Given the description of an element on the screen output the (x, y) to click on. 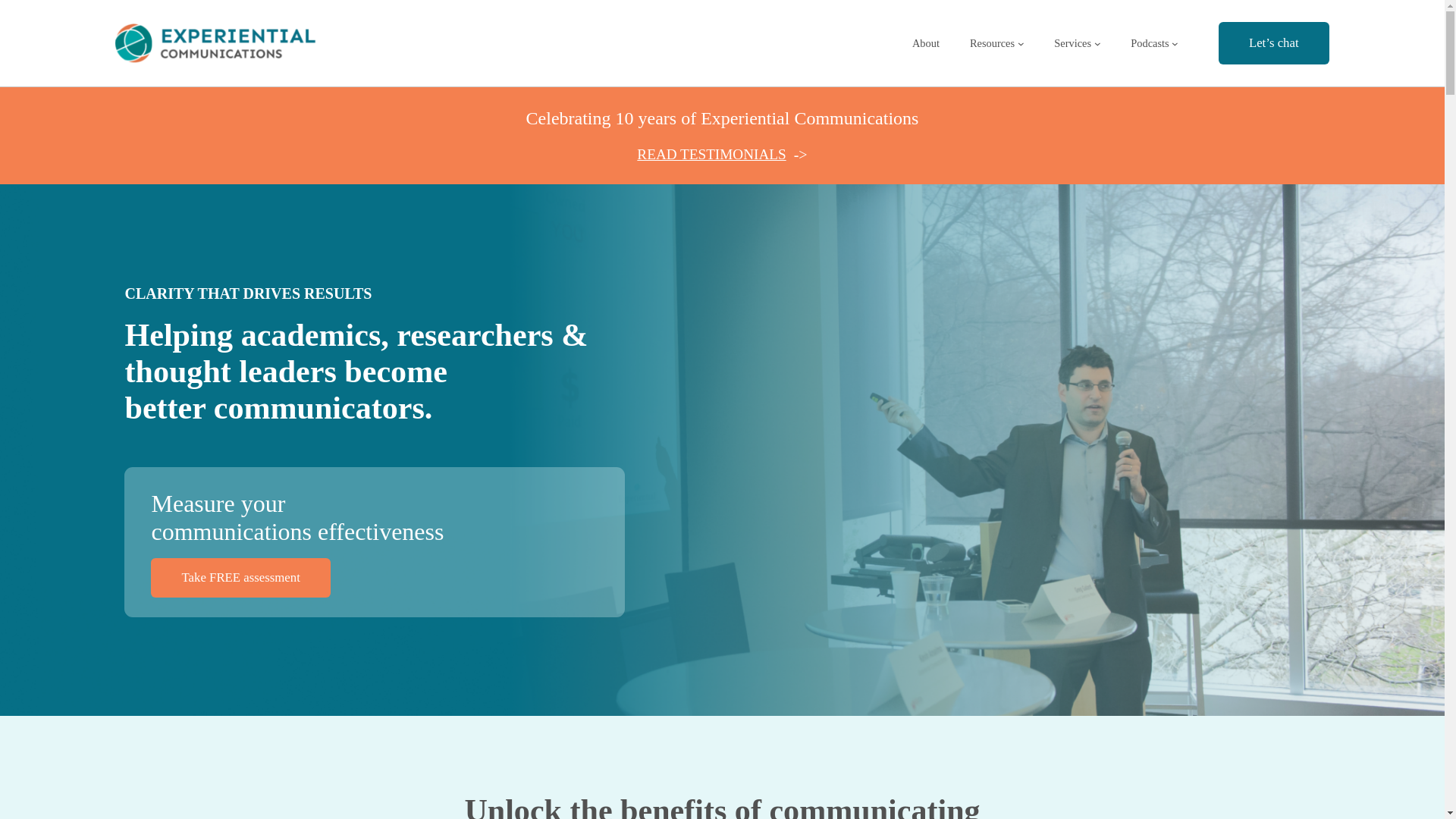
Podcasts (1150, 43)
READ TESTIMONIALS (711, 154)
Resources (991, 43)
Services (1072, 43)
About (925, 43)
Take FREE assessment (240, 645)
